Given the description of an element on the screen output the (x, y) to click on. 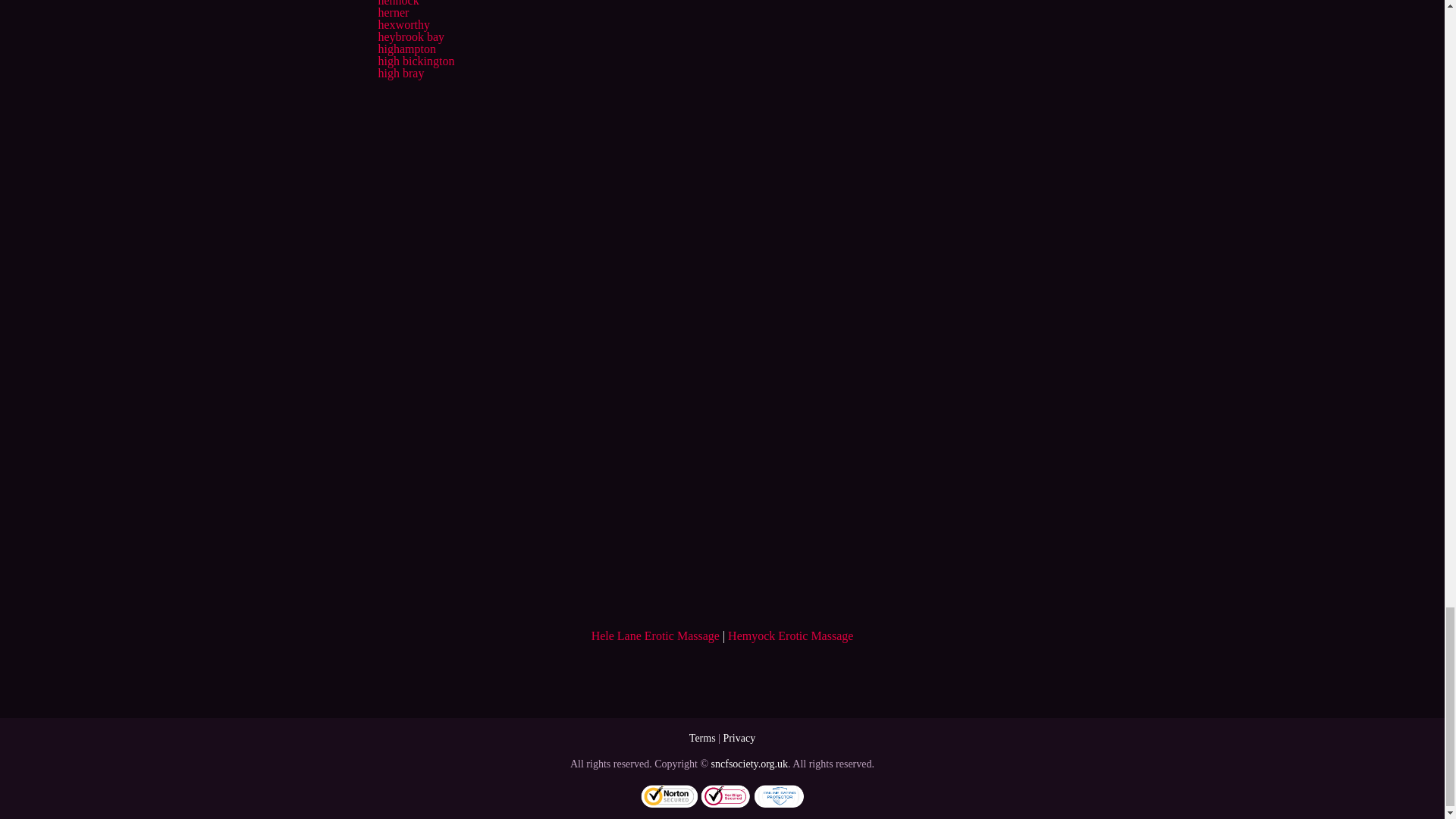
highampton (406, 48)
Hemyock Erotic Massage (790, 635)
Terms (702, 737)
Hele Lane Erotic Massage (655, 635)
Privacy (738, 737)
high bickington (415, 60)
Terms (702, 737)
hennock (398, 3)
hexworthy (403, 24)
herner (393, 11)
high bray (400, 72)
heybrook bay (410, 36)
sncfsociety.org.uk (749, 763)
Privacy (738, 737)
